Given the description of an element on the screen output the (x, y) to click on. 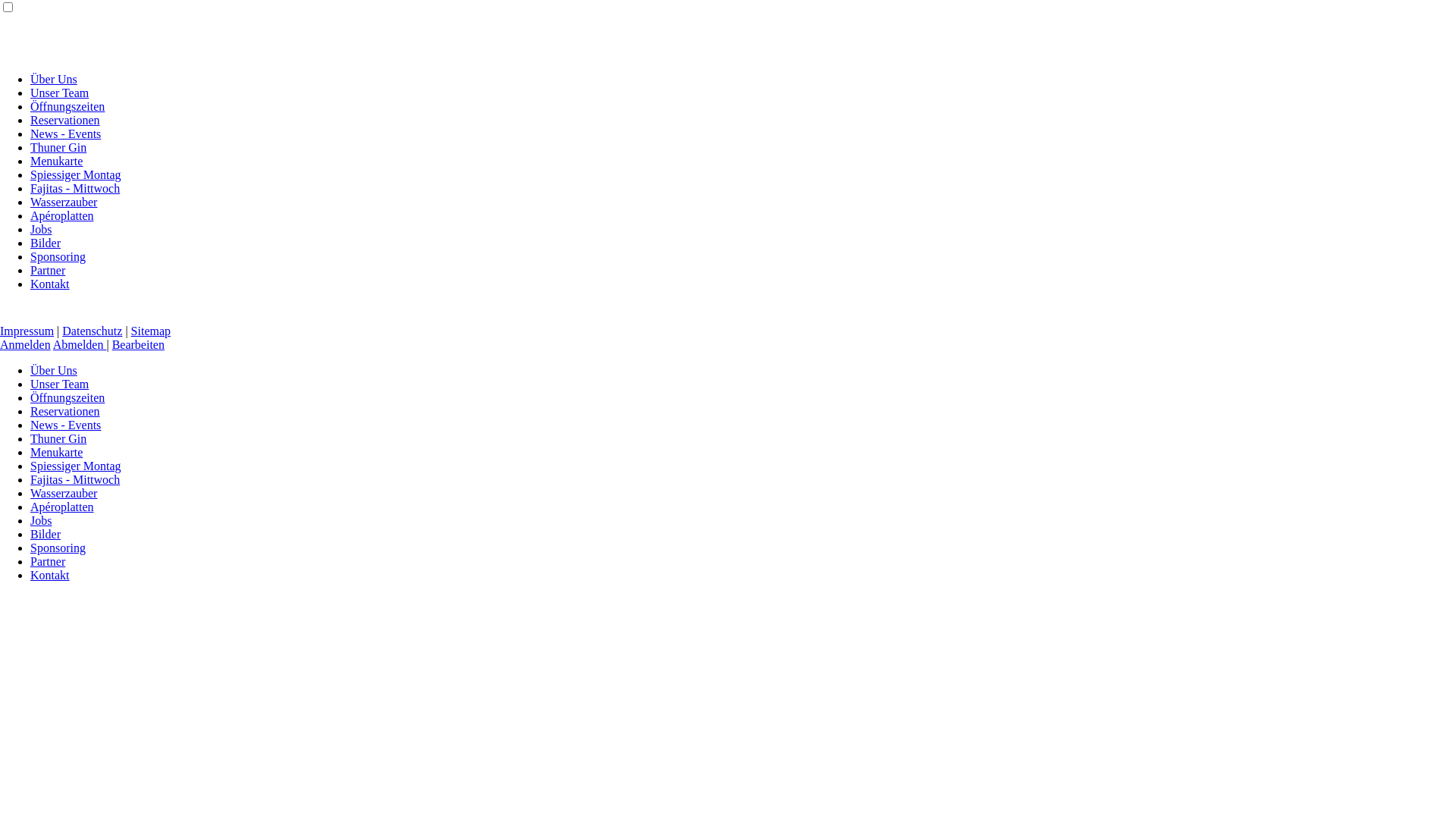
Wasserzauber Element type: text (63, 201)
Datenschutz Element type: text (92, 330)
Sponsoring Element type: text (57, 256)
Reservationen Element type: text (65, 410)
News - Events Element type: text (65, 133)
Kontakt Element type: text (49, 283)
Spiessiger Montag Element type: text (75, 174)
Kontakt Element type: text (49, 574)
Sitemap Element type: text (150, 330)
Fajitas - Mittwoch Element type: text (74, 479)
Partner Element type: text (47, 269)
Impressum Element type: text (26, 330)
Thuner Gin Element type: text (58, 438)
Sponsoring Element type: text (57, 547)
Jobs Element type: text (40, 520)
Jobs Element type: text (40, 228)
Unser Team Element type: text (59, 383)
Spiessiger Montag Element type: text (75, 465)
Menukarte Element type: text (56, 160)
Abmelden Element type: text (79, 344)
Bilder Element type: text (45, 533)
Wasserzauber Element type: text (63, 492)
Partner Element type: text (47, 561)
Reservationen Element type: text (65, 119)
Anmelden Element type: text (25, 344)
Menukarte Element type: text (56, 451)
Bearbeiten Element type: text (138, 344)
Fajitas - Mittwoch Element type: text (74, 188)
Unser Team Element type: text (59, 92)
News - Events Element type: text (65, 424)
Thuner Gin Element type: text (58, 147)
Bilder Element type: text (45, 242)
